Given the description of an element on the screen output the (x, y) to click on. 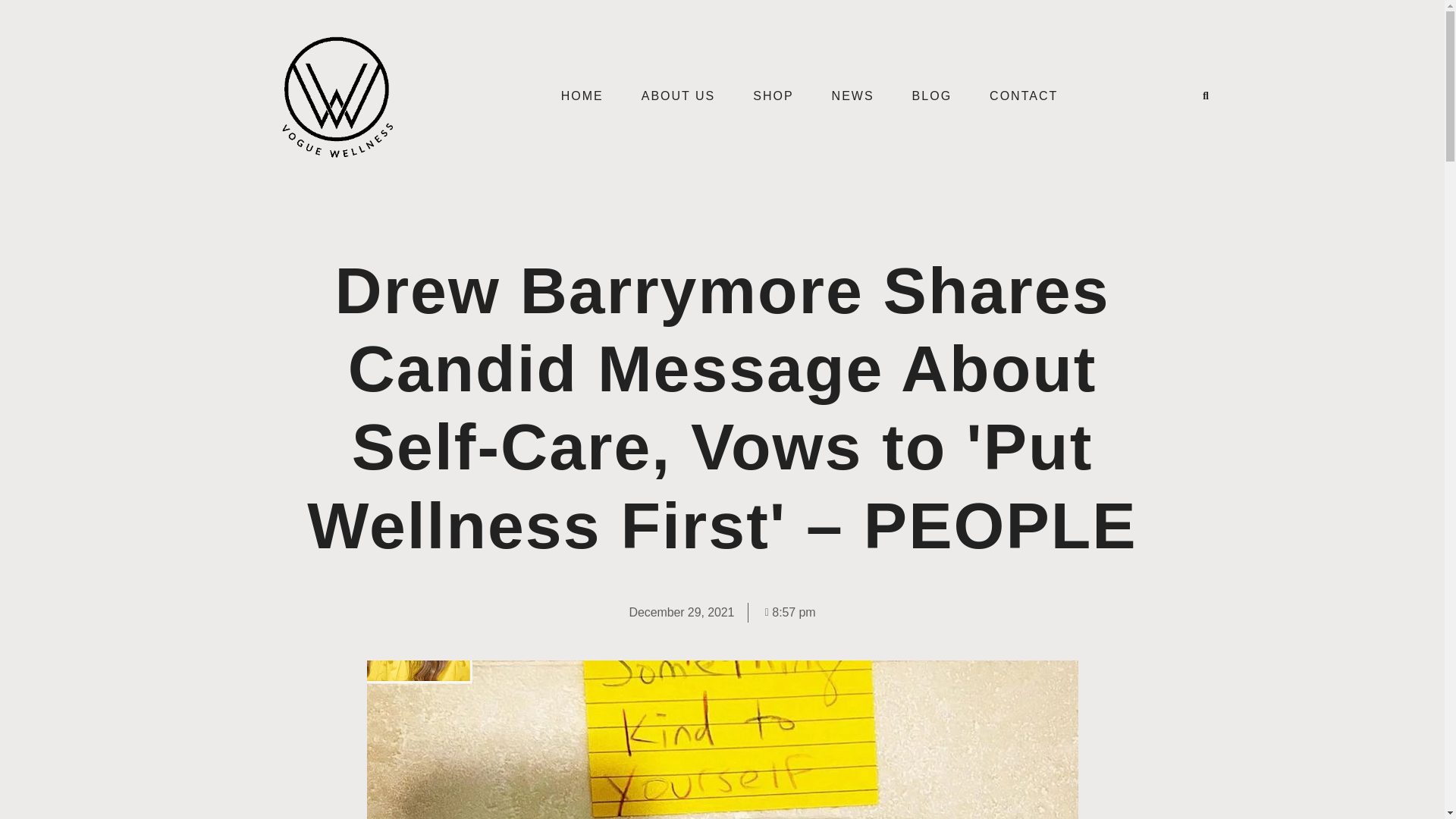
ABOUT US (679, 95)
HOME (582, 95)
CONTACT (1024, 95)
BLOG (932, 95)
NEWS (853, 95)
SHOP (772, 95)
